Given the description of an element on the screen output the (x, y) to click on. 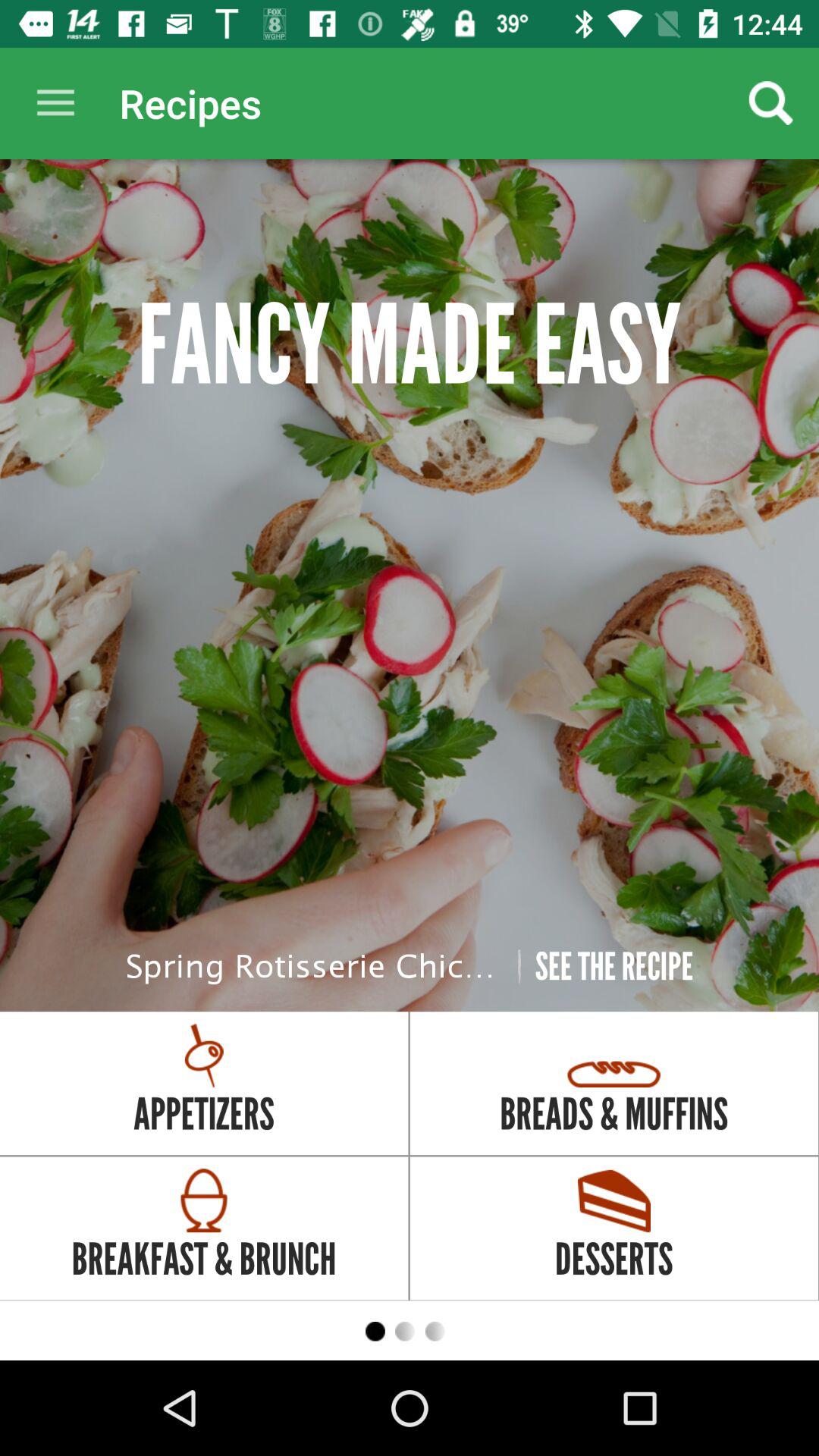
open item next to the recipes app (55, 103)
